Given the description of an element on the screen output the (x, y) to click on. 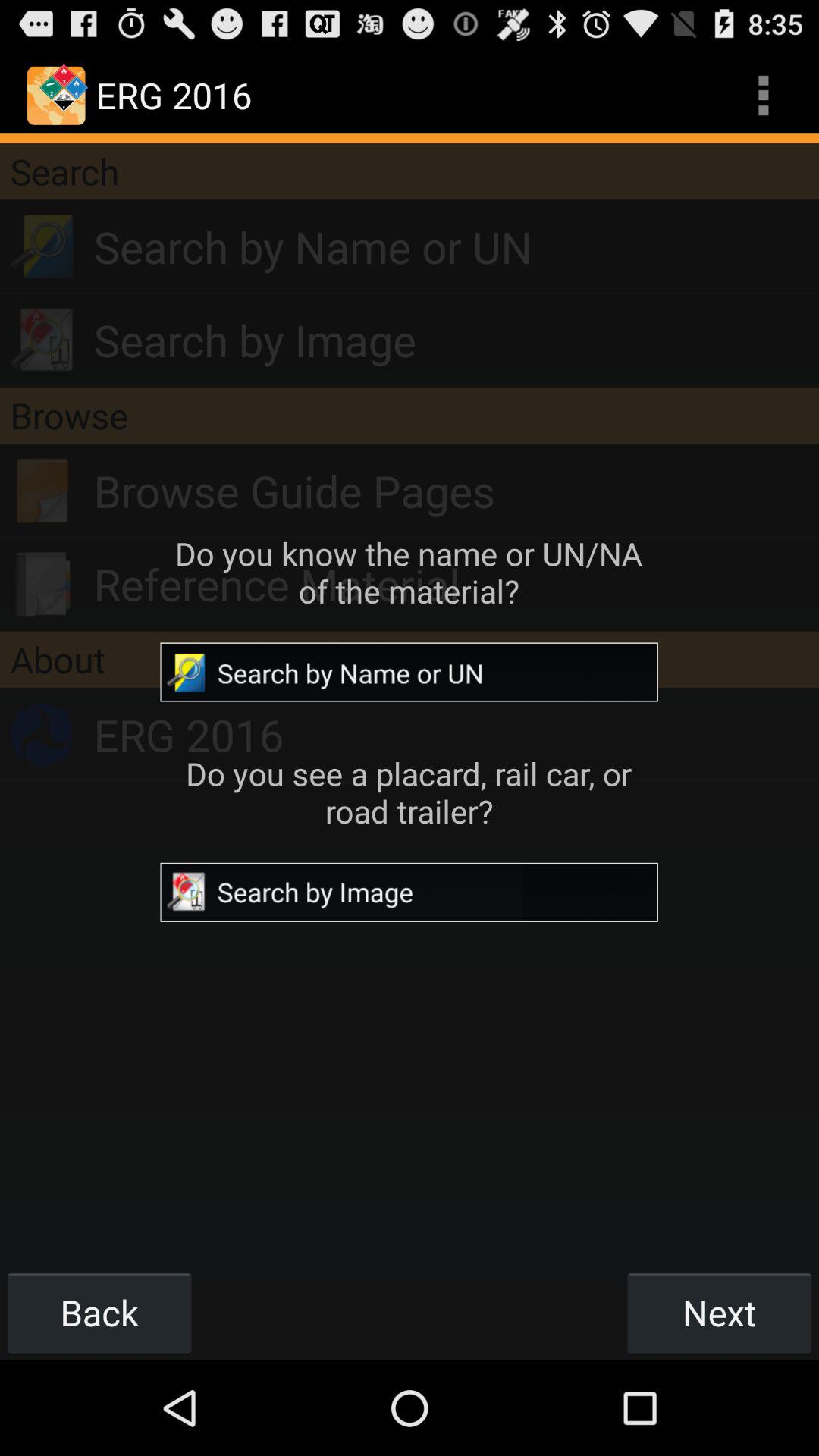
scroll until next (719, 1312)
